Given the description of an element on the screen output the (x, y) to click on. 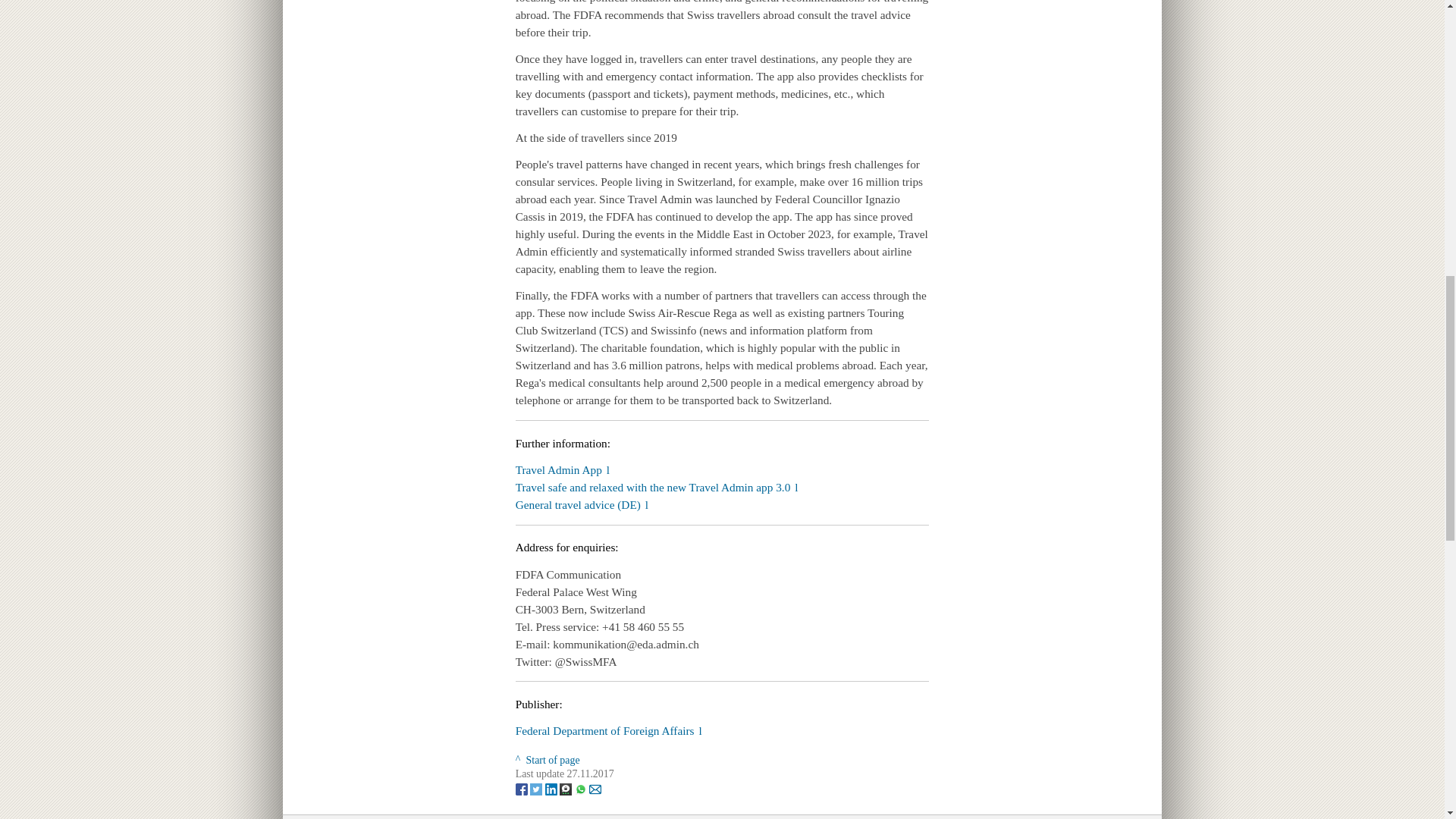
External Link (562, 469)
External Link (656, 486)
External Link (608, 730)
External Link (581, 504)
